Given the description of an element on the screen output the (x, y) to click on. 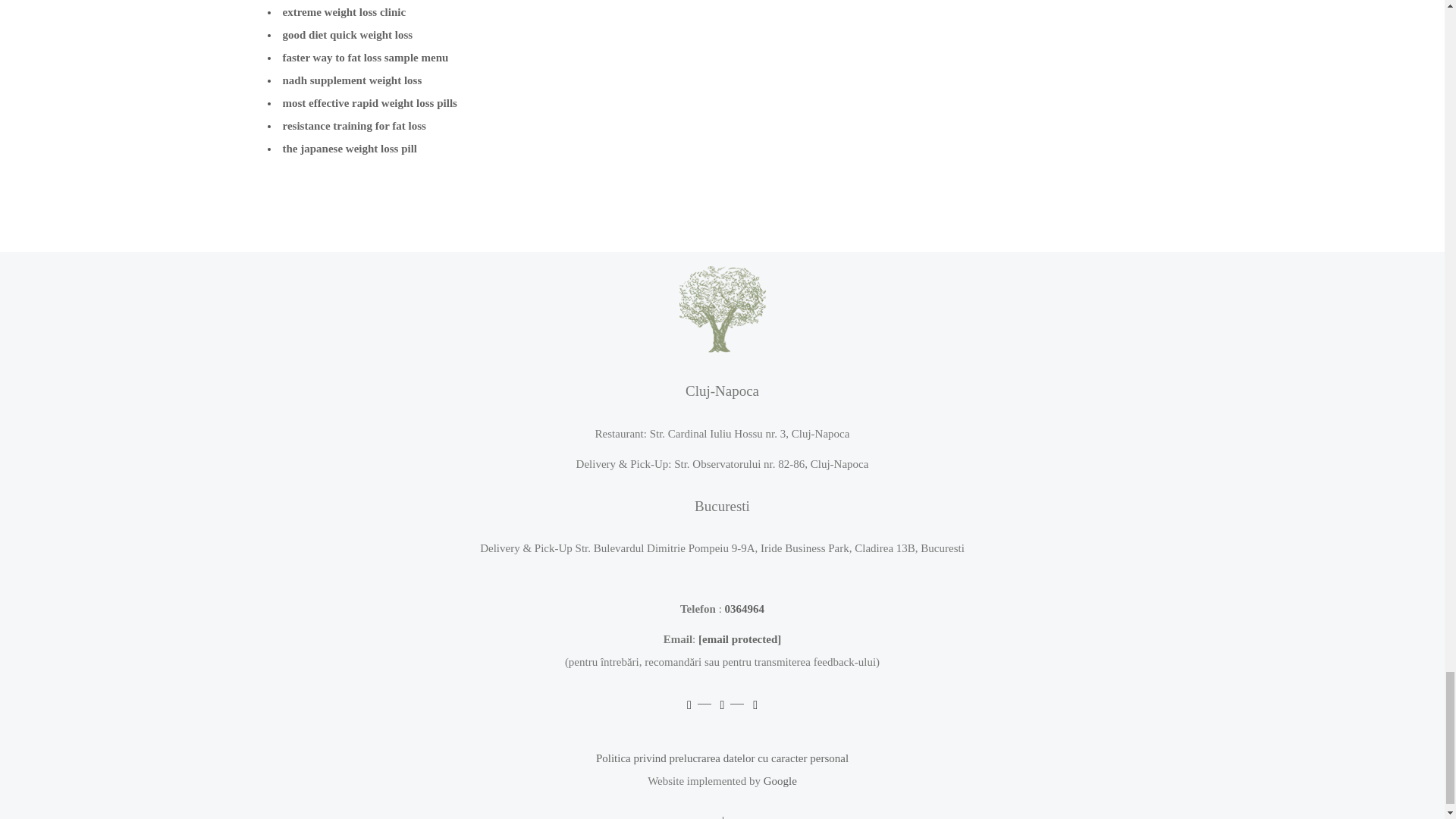
0364964 (745, 608)
good diet quick weight loss (347, 34)
faster way to fat loss sample menu (365, 57)
most effective rapid weight loss pills (369, 102)
resistance training for fat loss (353, 125)
the japanese weight loss pill (349, 148)
extreme weight loss clinic (344, 11)
nadh supplement weight loss (352, 80)
